Given the description of an element on the screen output the (x, y) to click on. 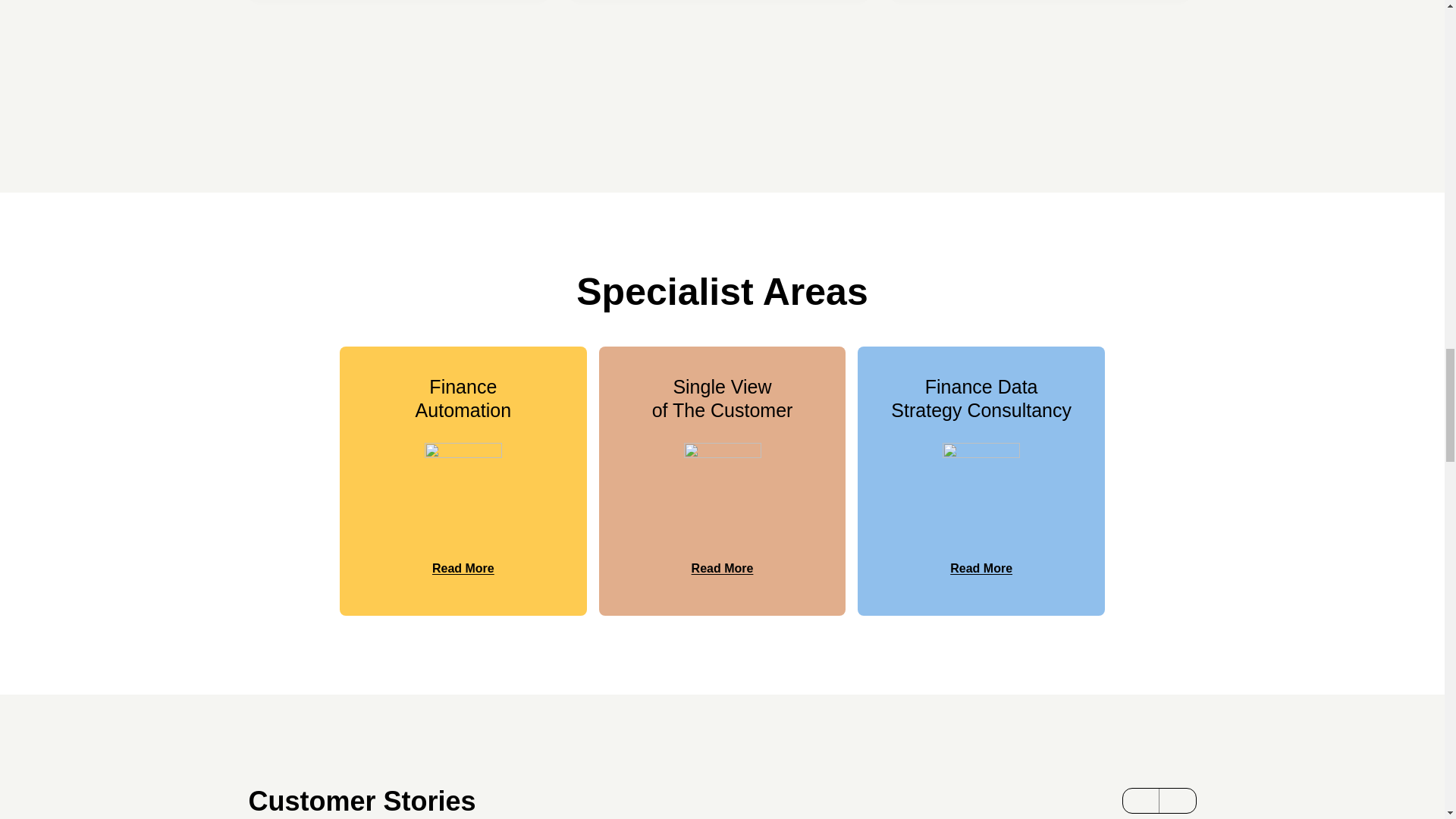
Read More (463, 569)
Read More (722, 569)
Customer Stories (371, 800)
Prev (1140, 800)
Next (1176, 800)
Read More (980, 569)
